Given the description of an element on the screen output the (x, y) to click on. 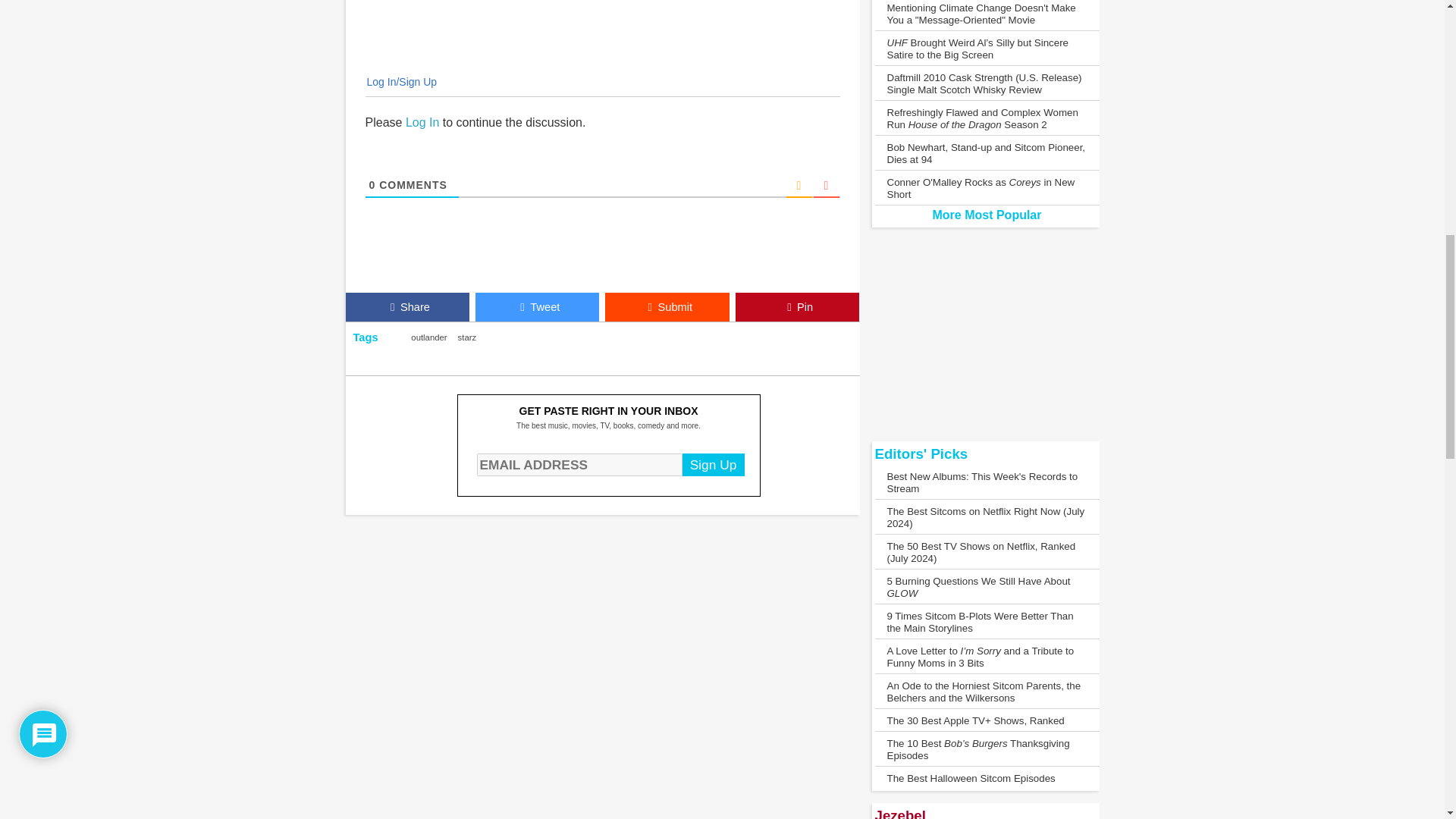
0 (371, 184)
